Given the description of an element on the screen output the (x, y) to click on. 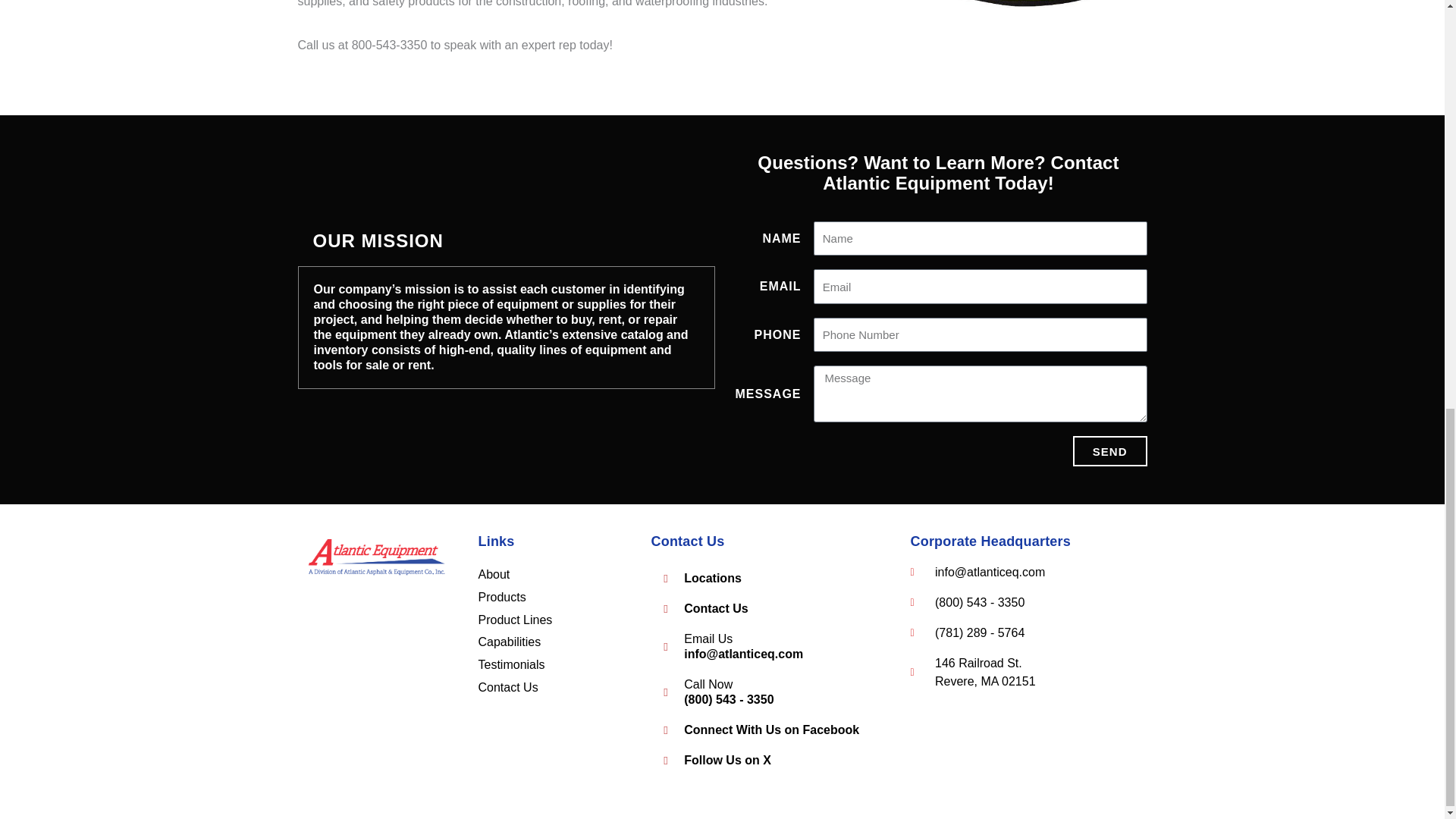
Testimonials (510, 664)
SEND (1110, 450)
Product Lines (514, 619)
Contact Us (507, 686)
About (493, 574)
Products (501, 596)
Contact Us (765, 608)
Locations (765, 578)
Capabilities (508, 641)
